Given the description of an element on the screen output the (x, y) to click on. 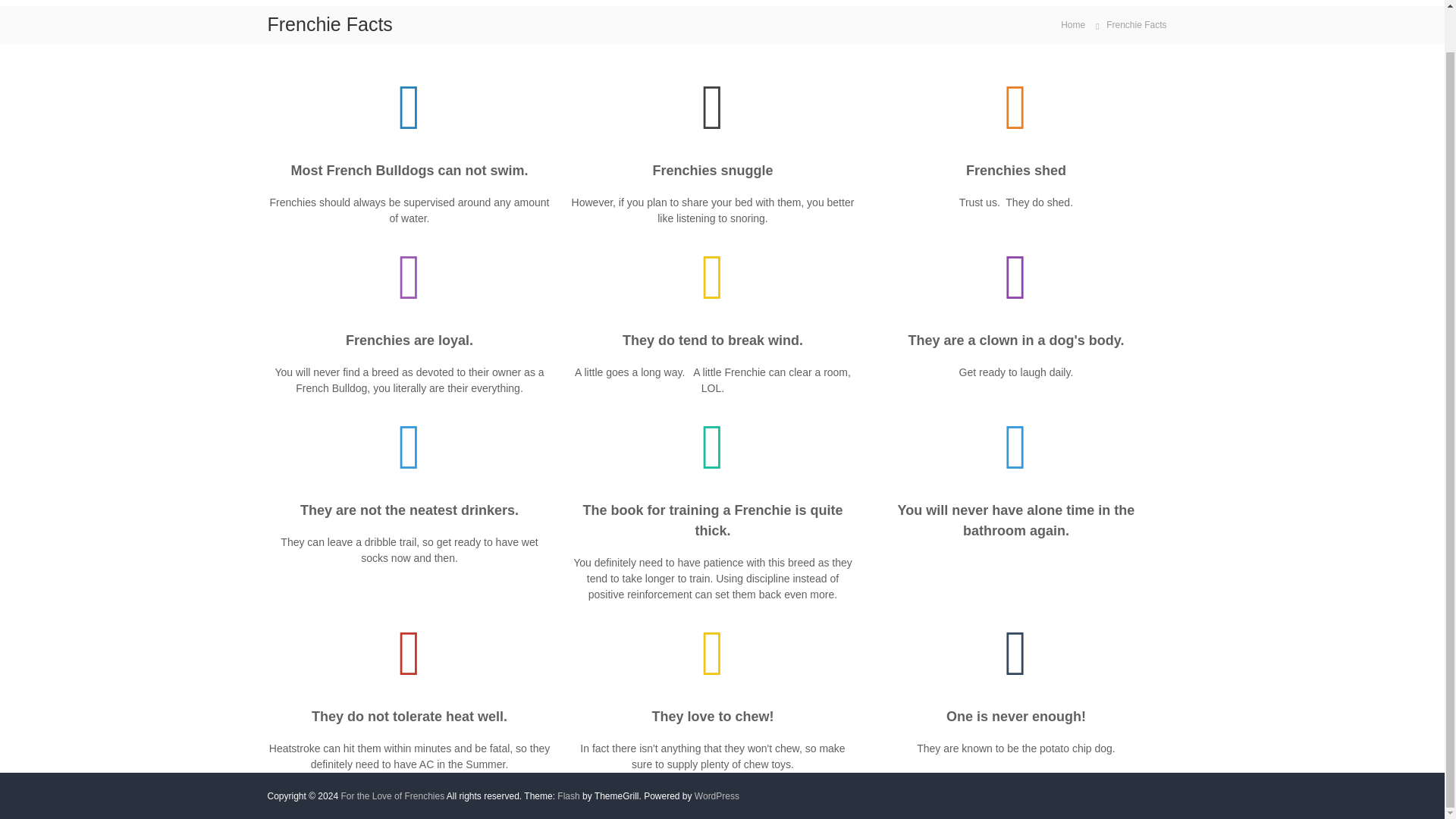
Flash (568, 796)
Home (1072, 24)
WordPress (716, 796)
For the Love of Frenchies (392, 796)
Home (1072, 24)
